Given the description of an element on the screen output the (x, y) to click on. 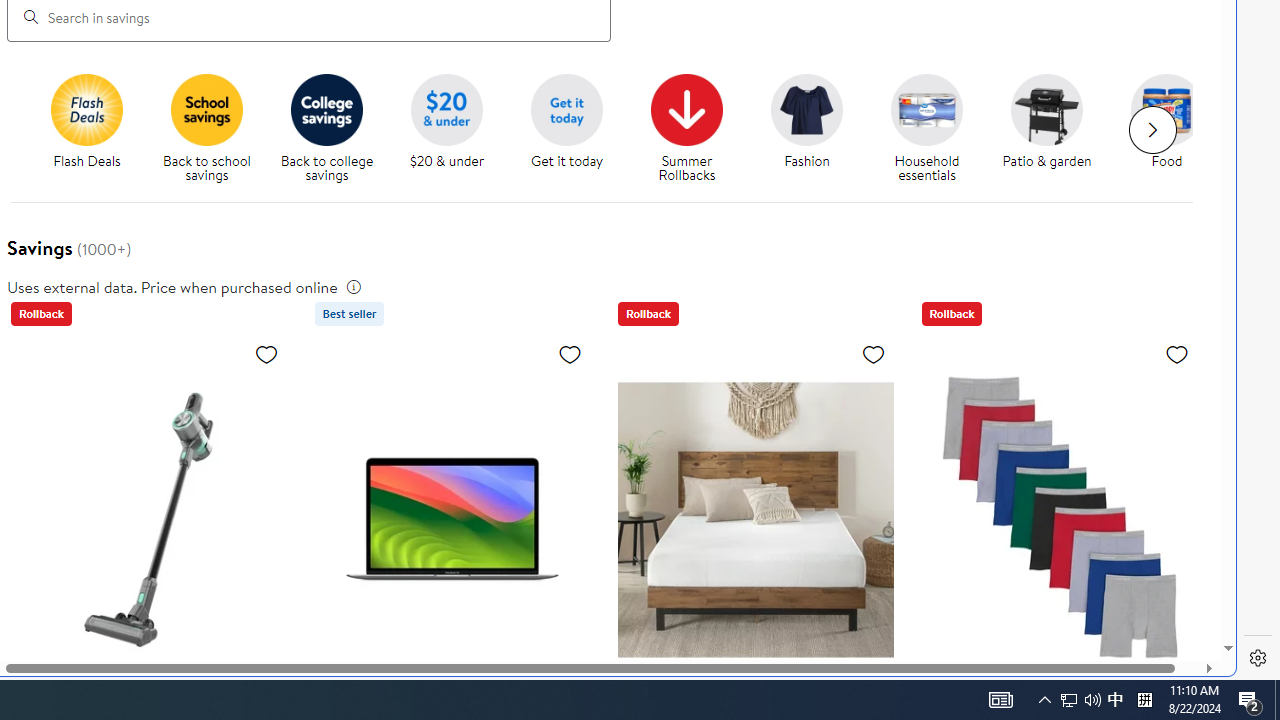
Household essentials (934, 128)
Patio & garden (1054, 128)
$20 and under $20 & under (447, 122)
Food (1167, 109)
Household essentials (926, 109)
Fashion Fashion (806, 122)
Get it today (574, 128)
Household essentials Household essentials (927, 128)
Back to school savings (214, 128)
Food (1174, 128)
Flash deals Flash Deals (86, 122)
Next slide for chipModuleWithImages list (1152, 129)
Fashion (815, 128)
Get it today (566, 109)
Back to School savings (207, 109)
